Given the description of an element on the screen output the (x, y) to click on. 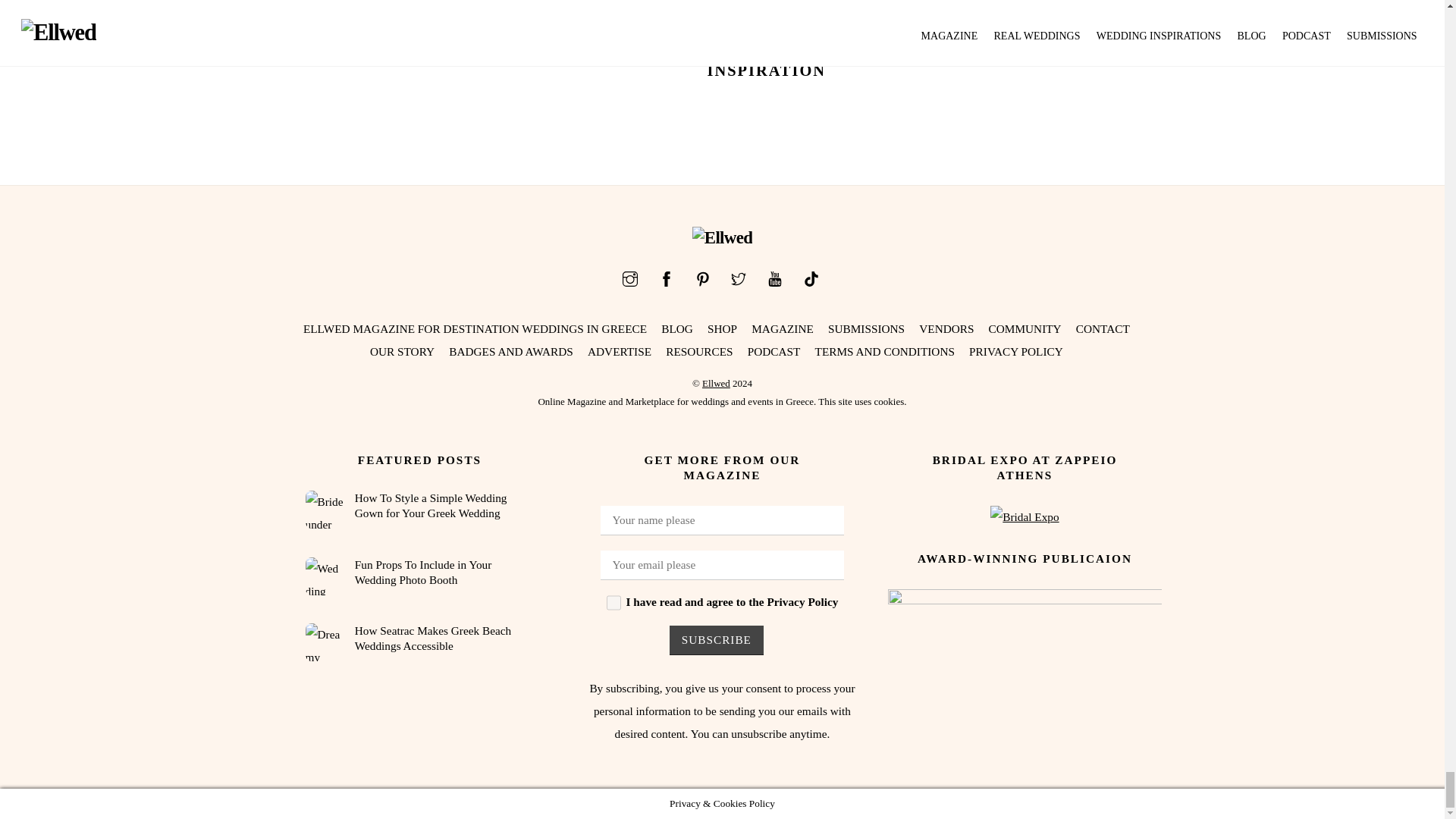
Bridal Expo and Bridal Fashion Week Athens (1024, 517)
HOW TO STYLE A SIMPLE WEDDING GOWN FOR YOUR GREEK WEDDING (363, 23)
Bridal Expo and Bridal Fashion Week Athens (1024, 665)
Ellwed (722, 237)
Cornelia Lietz Hochzeitsreportagen (323, 509)
Subscribe (715, 640)
1 (614, 602)
